Given the description of an element on the screen output the (x, y) to click on. 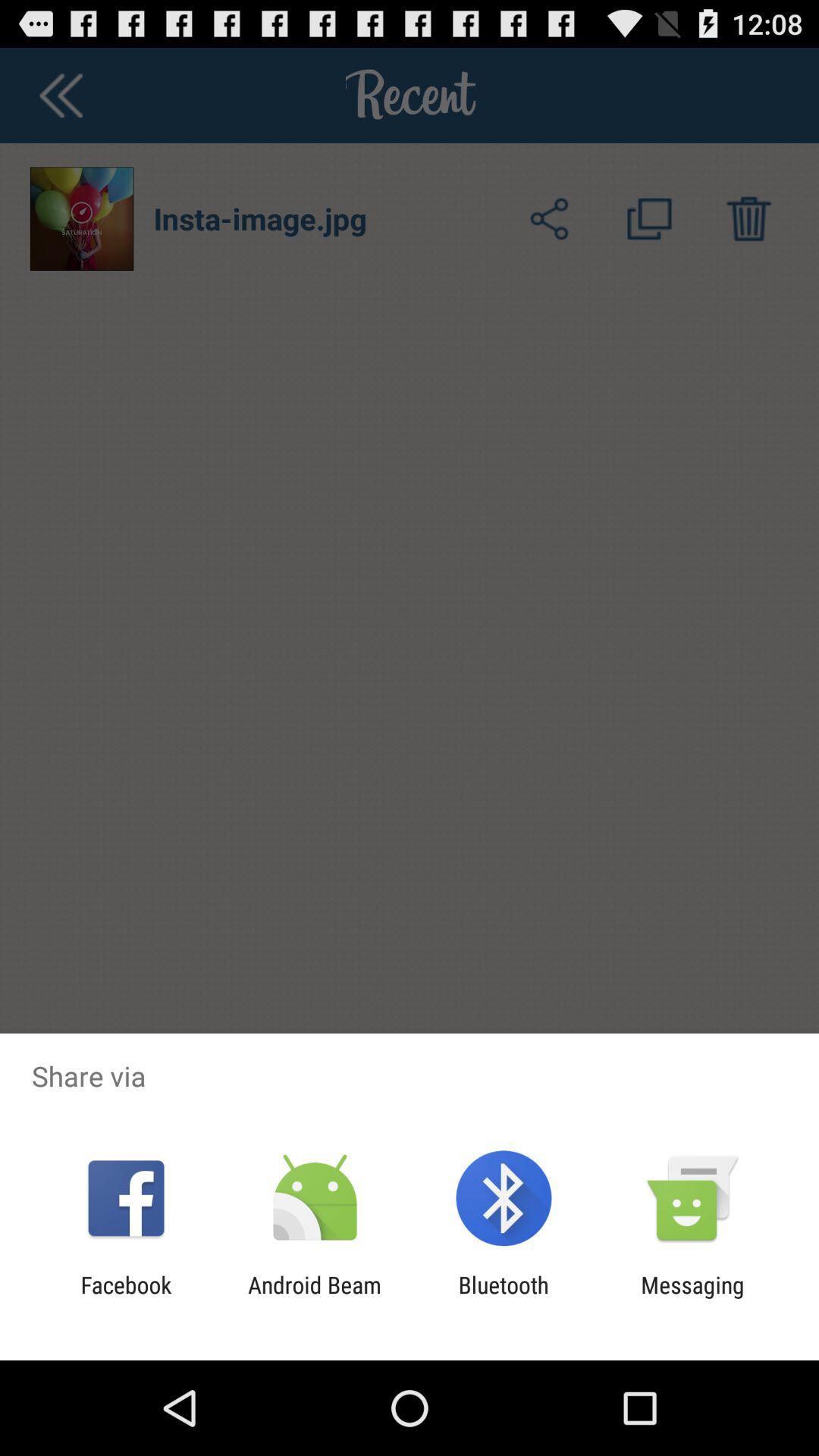
turn off app next to facebook app (314, 1298)
